Given the description of an element on the screen output the (x, y) to click on. 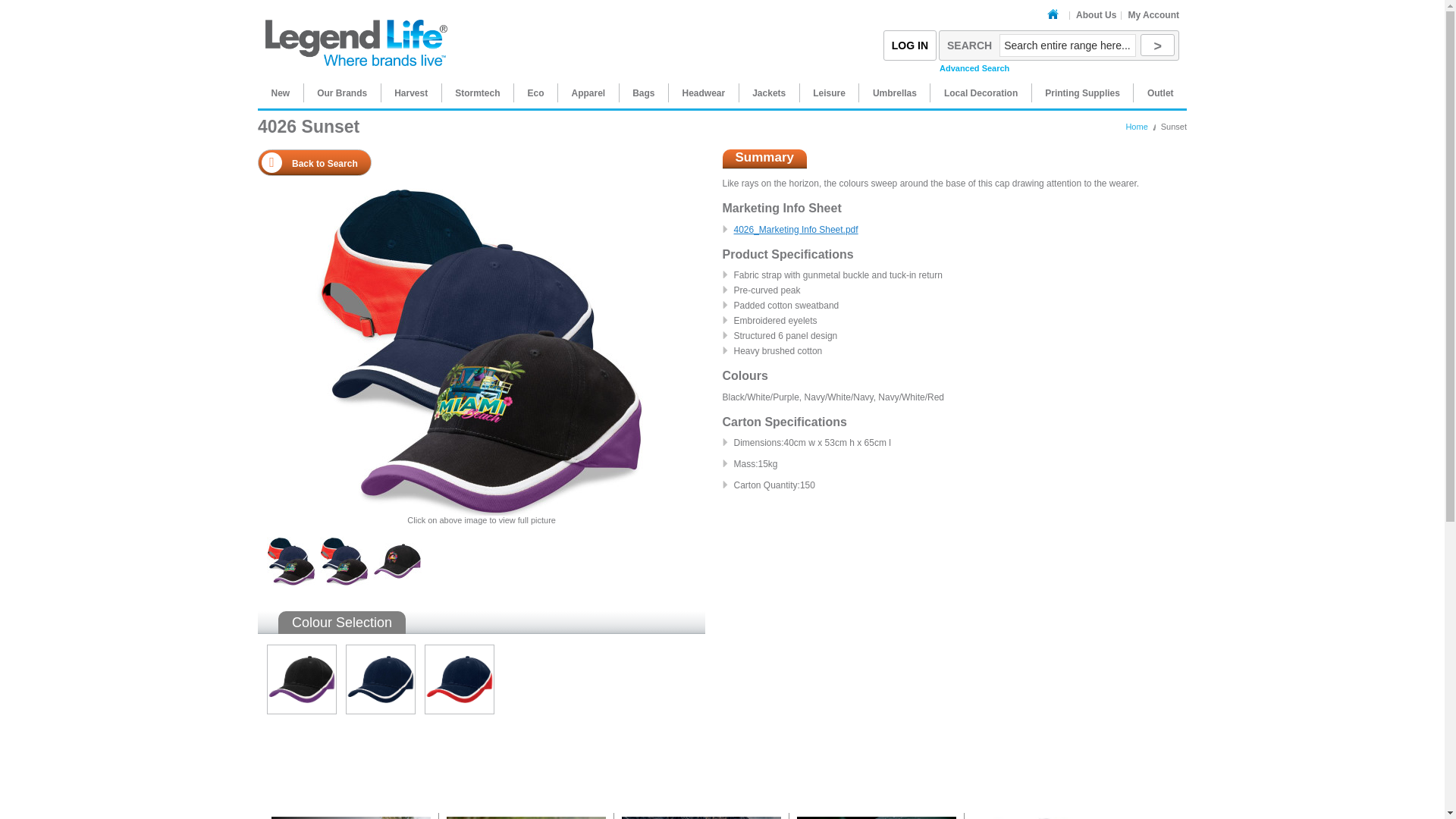
Home Element type: text (1136, 126)
Home Element type: text (1054, 14)
Umbrellas Element type: text (894, 92)
Navy,White,Navy Element type: hover (375, 649)
Summary Element type: text (763, 158)
Black,White,Purple Element type: hover (301, 679)
Back to Search Element type: text (314, 162)
> Element type: text (1157, 45)
Navy,White,Red Element type: hover (459, 679)
My Account Element type: text (1153, 14)
Headwear Element type: text (703, 92)
Jackets Element type: text (768, 92)
4026_Marketing Info Sheet.pdf Element type: text (796, 229)
Outlet Element type: text (1160, 92)
Harvest Element type: text (410, 92)
Printing Supplies Element type: text (1082, 92)
Apparel Element type: text (588, 92)
About Us Element type: text (1096, 14)
LOG IN Element type: text (909, 45)
4026_-_Image Element type: hover (344, 560)
Legendlife.com.au Element type: hover (356, 32)
Navy,White,Red Element type: hover (454, 649)
Navy,White,Navy Element type: hover (380, 679)
Leisure Element type: text (828, 92)
Advanced Search Element type: text (974, 67)
Bags Element type: text (643, 92)
4026_-_Image Element type: hover (290, 541)
Local Decoration Element type: text (980, 92)
4026_-_Image Element type: hover (397, 541)
Stormtech Element type: text (477, 92)
Eco Element type: text (535, 92)
4026_-_Image Element type: hover (397, 560)
4026_-_Image Element type: hover (290, 560)
Black,White,Purple Element type: hover (296, 649)
4026_-_Image Element type: hover (344, 541)
Our Brands Element type: text (341, 92)
4026_-_Image Element type: hover (481, 349)
New Element type: text (279, 92)
